Given the description of an element on the screen output the (x, y) to click on. 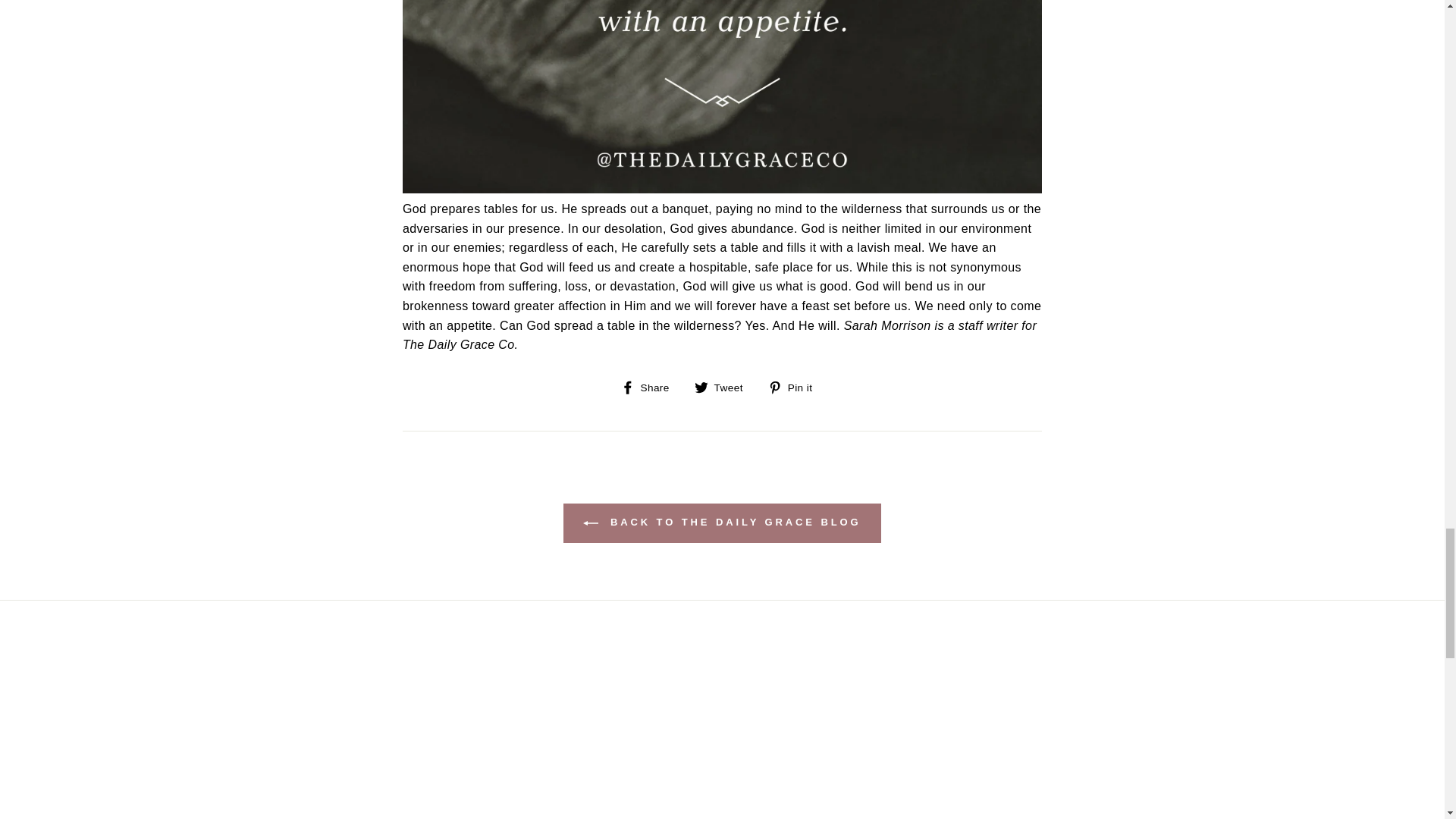
Pin on Pinterest (796, 387)
Tweet on Twitter (724, 387)
Share on Facebook (651, 387)
